Given the description of an element on the screen output the (x, y) to click on. 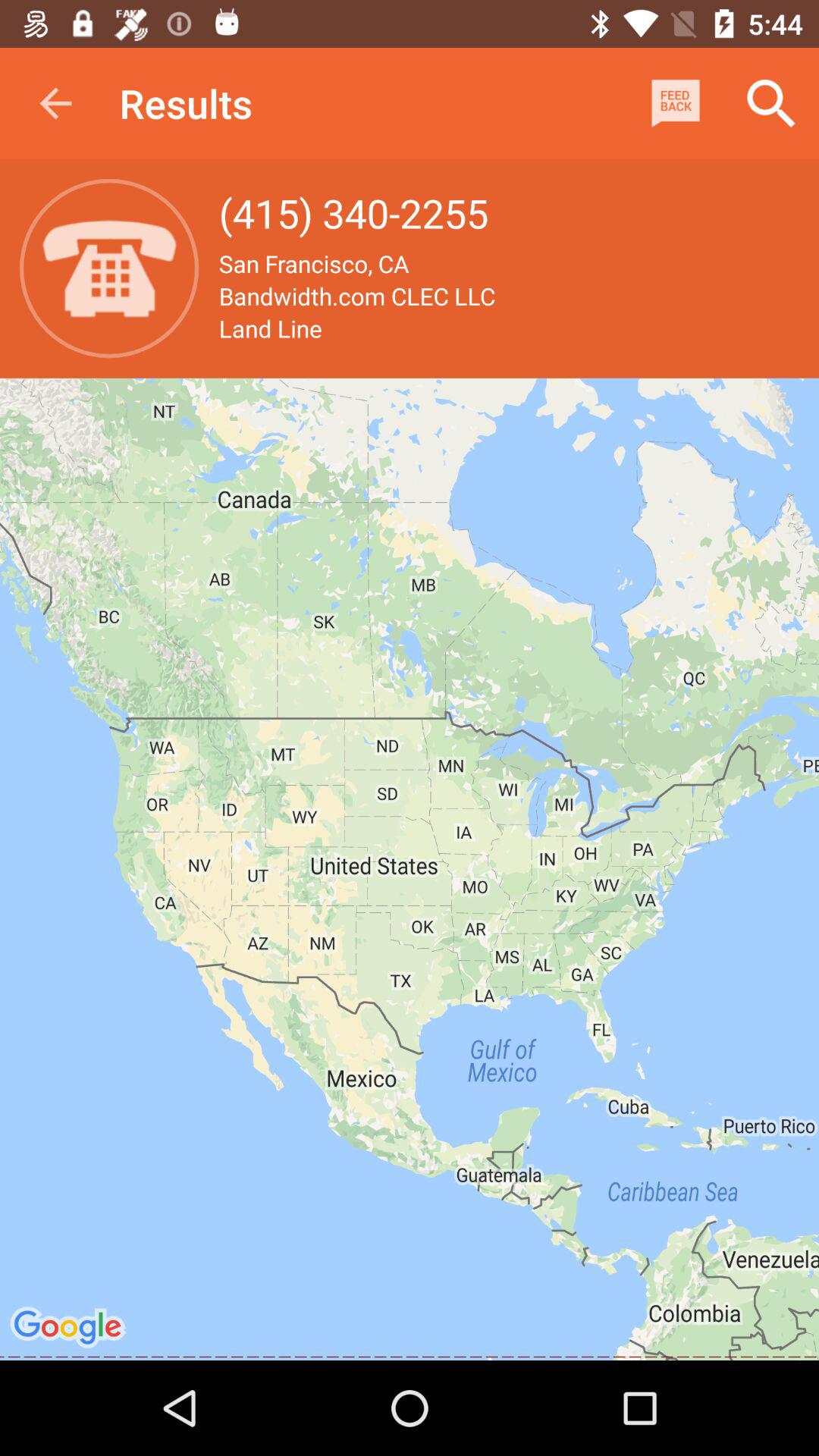
turn on item to the left of results app (55, 103)
